Given the description of an element on the screen output the (x, y) to click on. 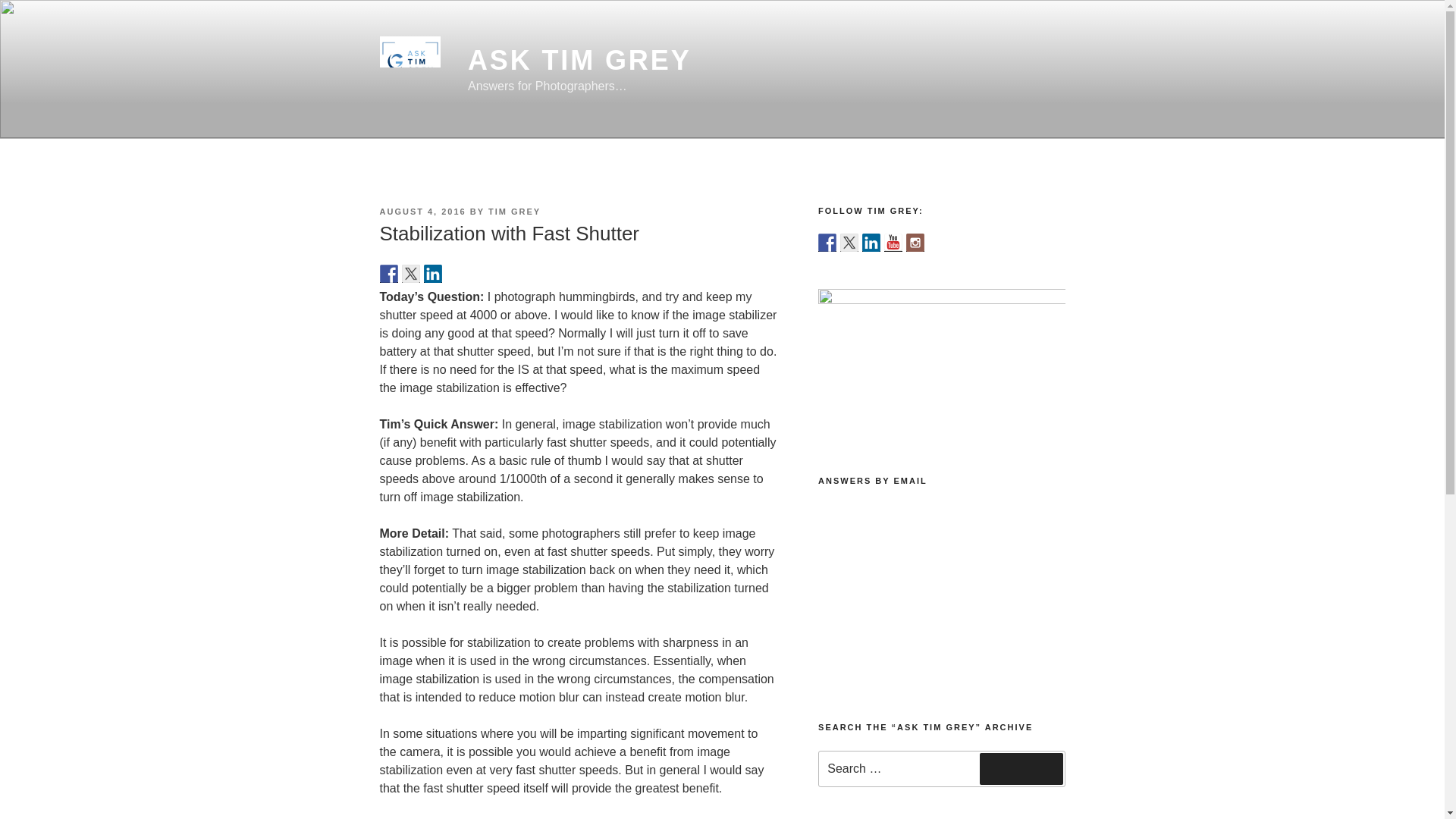
TIM GREY (513, 211)
Connect with Tim Grey on LinkedIn (870, 242)
Follow Tim Grey on Twitter (849, 242)
Share on Linkedin (432, 273)
Follow Tim Grey on Instagram (914, 242)
Follow Tim Grey TV on YouTube (892, 242)
AUGUST 4, 2016 (421, 211)
Share on Facebook (387, 273)
Search (1020, 768)
Share on Twitter (410, 273)
